Given the description of an element on the screen output the (x, y) to click on. 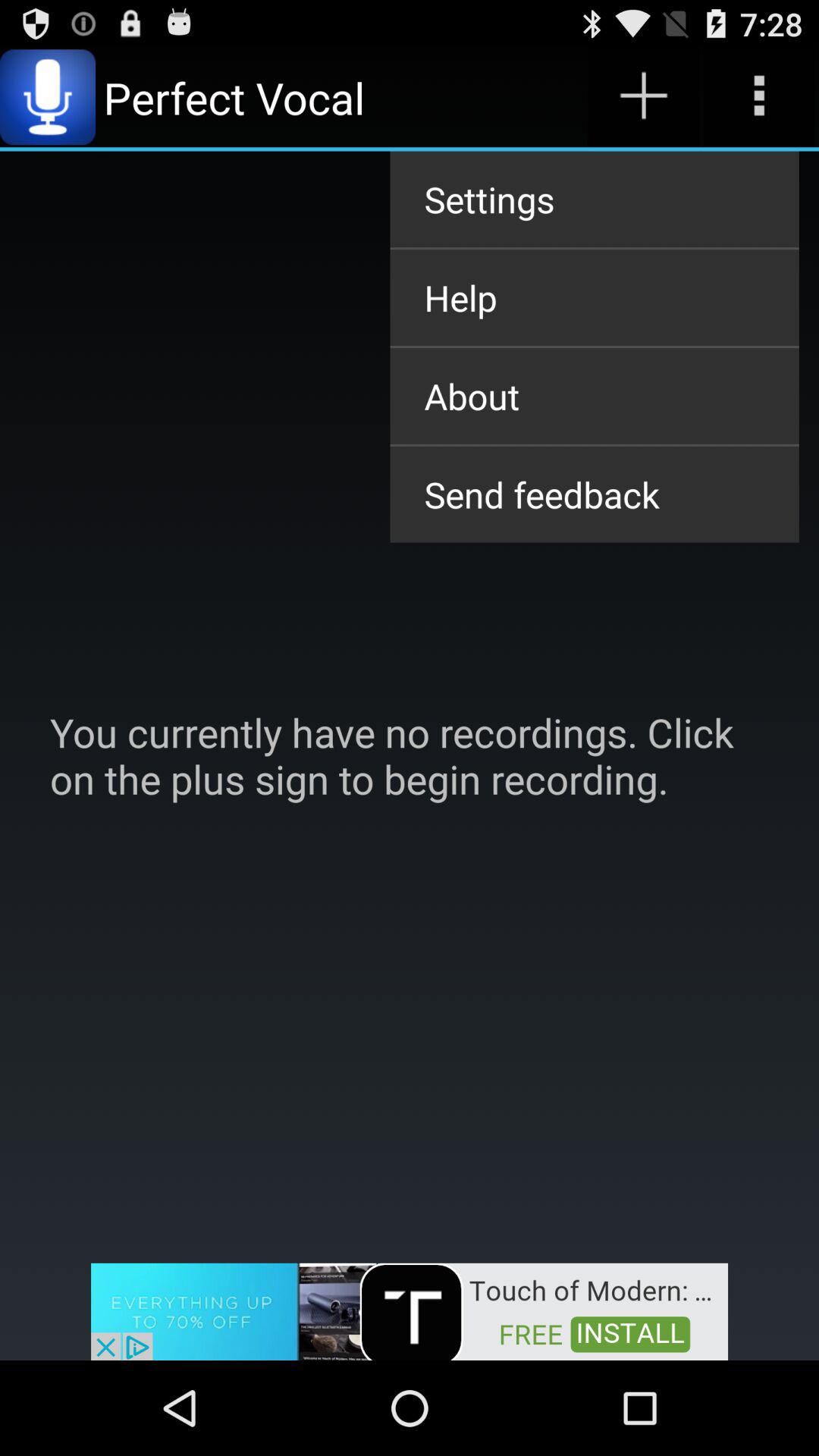
close the app (409, 1310)
